Given the description of an element on the screen output the (x, y) to click on. 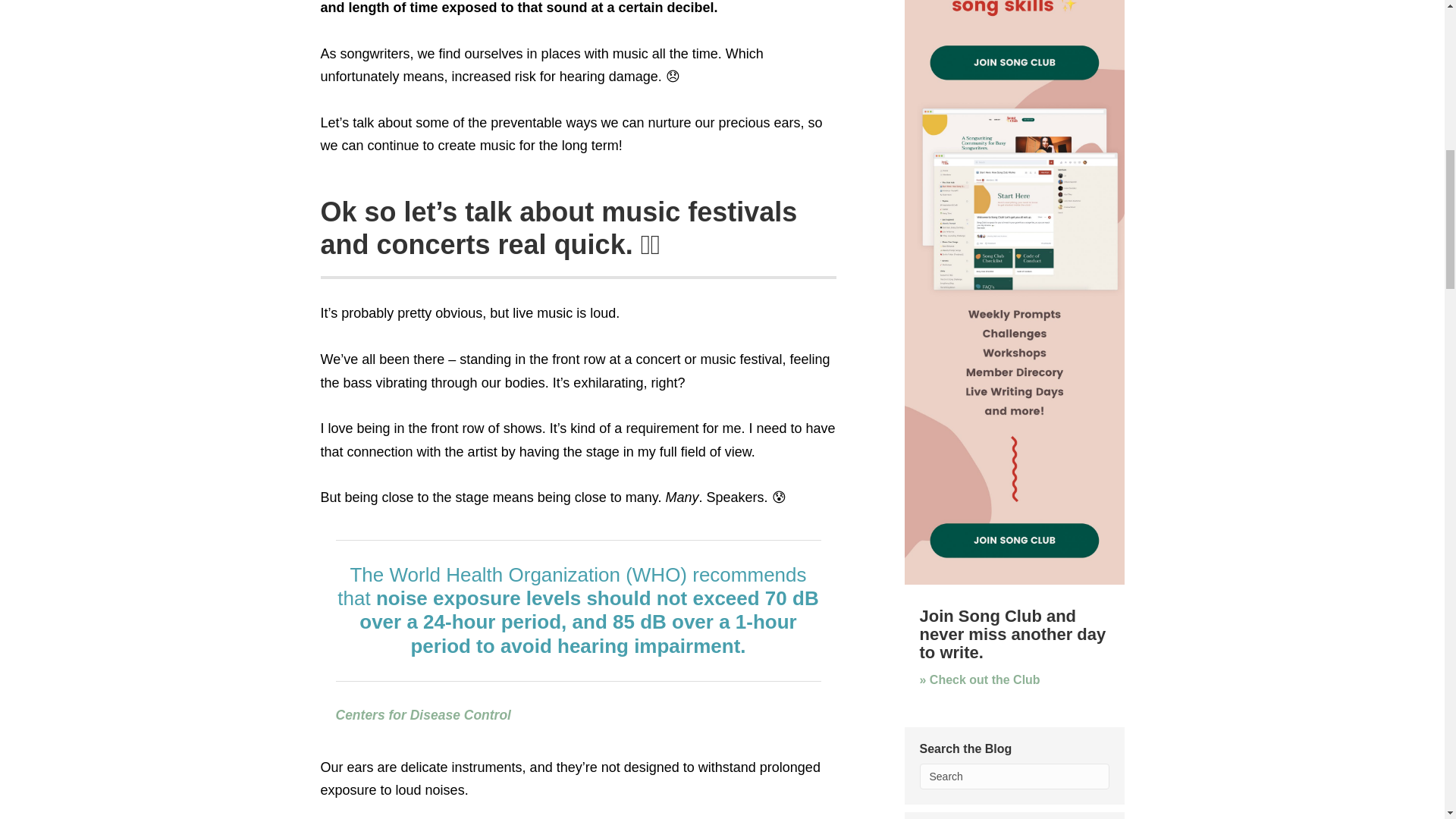
Type and press Enter to search. (1013, 776)
Search (1013, 776)
Search (1013, 776)
Centers for Disease Control (422, 714)
